Given the description of an element on the screen output the (x, y) to click on. 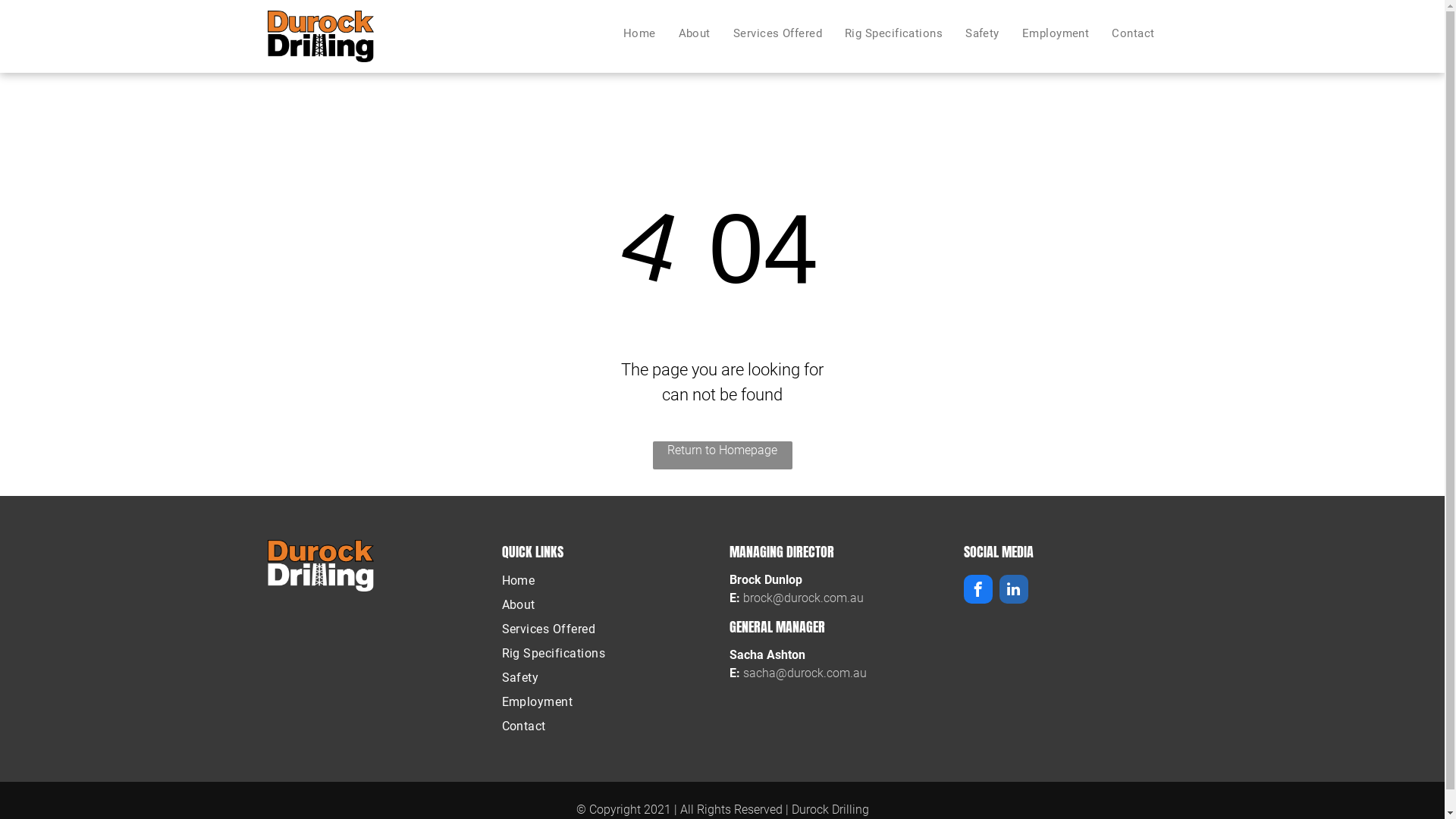
Home Element type: text (639, 33)
sacha@durock.com.au Element type: text (804, 672)
Employment Element type: text (1055, 33)
About Element type: text (608, 605)
Services Offered Element type: text (608, 629)
Employment Element type: text (608, 702)
About Element type: text (694, 33)
Home Element type: text (608, 580)
Services Offered Element type: text (777, 33)
Rig Specifications Element type: text (608, 653)
Safety Element type: text (981, 33)
brock@durock.com.au Element type: text (803, 597)
Return to Homepage Element type: text (721, 455)
Contact Element type: text (1132, 33)
Safety Element type: text (608, 677)
Rig Specifications Element type: text (893, 33)
Contact Element type: text (608, 726)
